Given the description of an element on the screen output the (x, y) to click on. 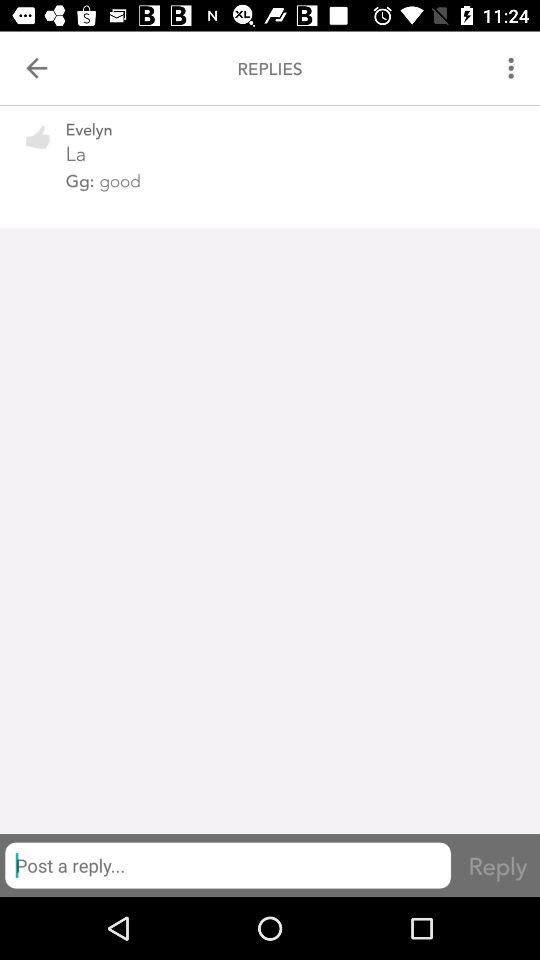
choose item next to replies item (36, 68)
